Given the description of an element on the screen output the (x, y) to click on. 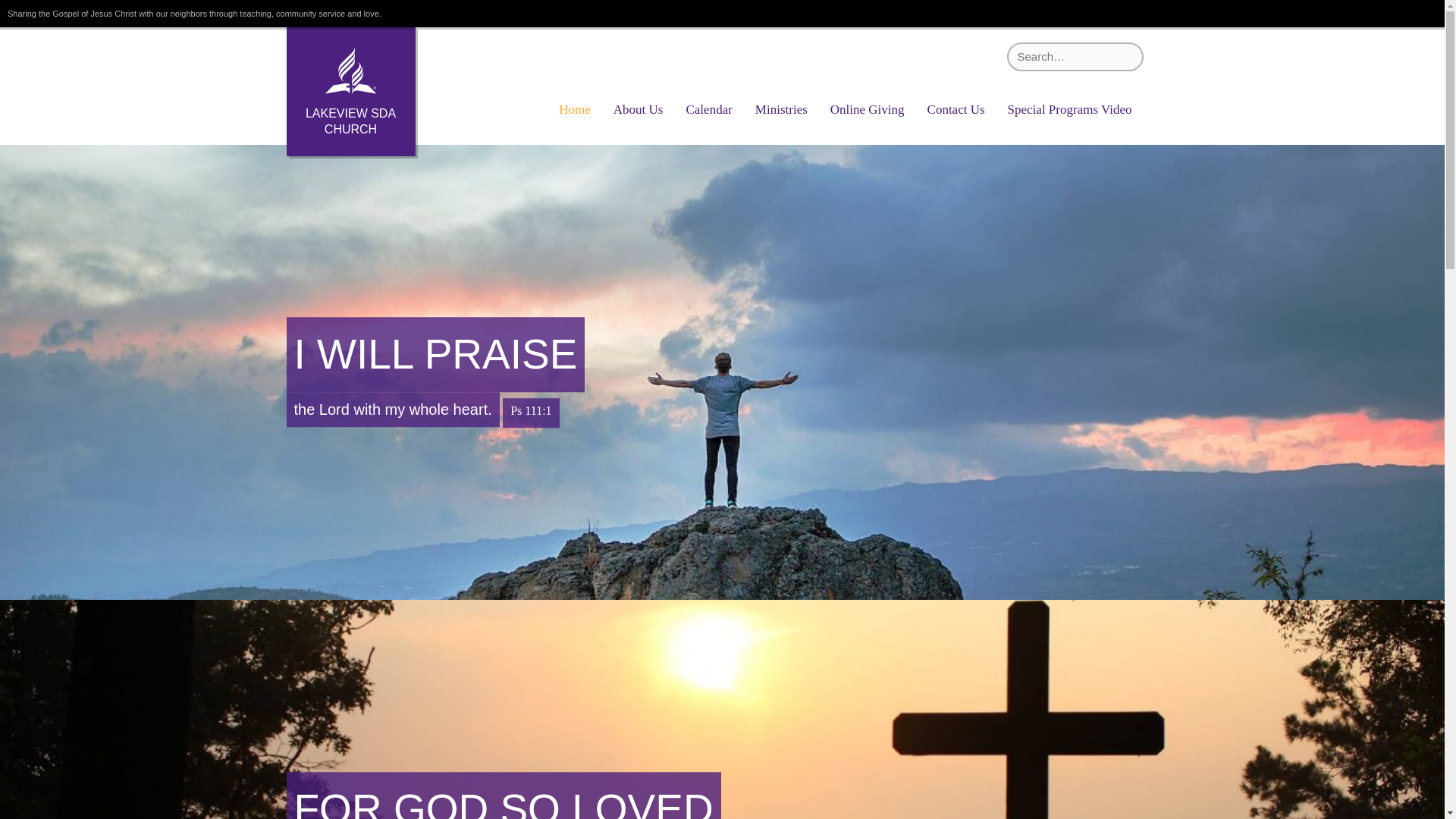
Home (573, 110)
LAKEVIEW SDA CHURCH (350, 91)
Ministries (780, 110)
Calendar (708, 110)
Online Giving (867, 110)
Contact Us (955, 110)
Special Programs Video (1069, 110)
About Us (638, 110)
